Given the description of an element on the screen output the (x, y) to click on. 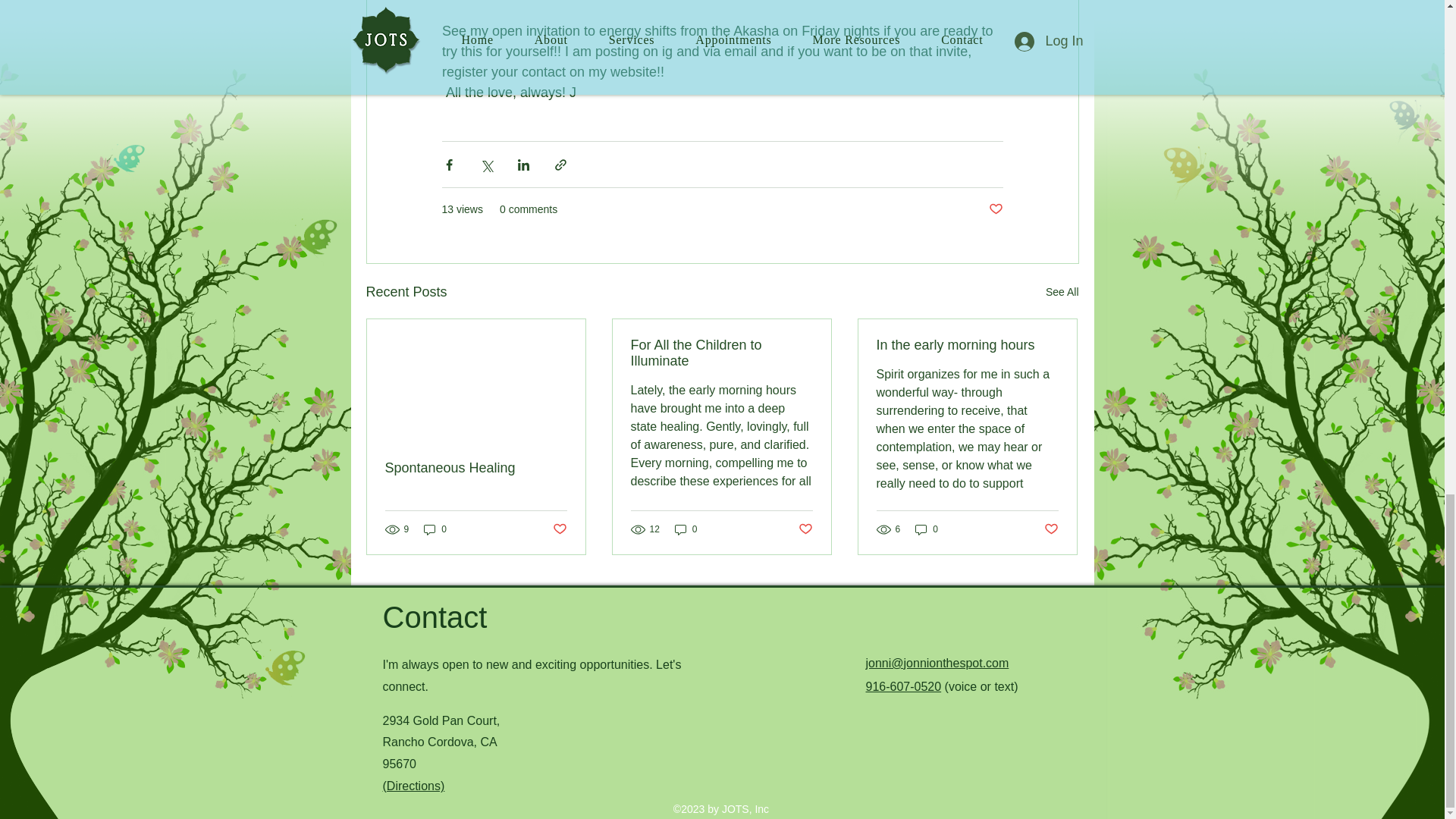
0 (926, 528)
0 (435, 528)
Post not marked as liked (804, 529)
Post not marked as liked (558, 529)
Post not marked as liked (995, 209)
Spontaneous Healing (476, 467)
For All the Children to Illuminate (721, 353)
In the early morning hours (967, 344)
Post not marked as liked (1050, 529)
0 (685, 528)
See All (1061, 292)
